Given the description of an element on the screen output the (x, y) to click on. 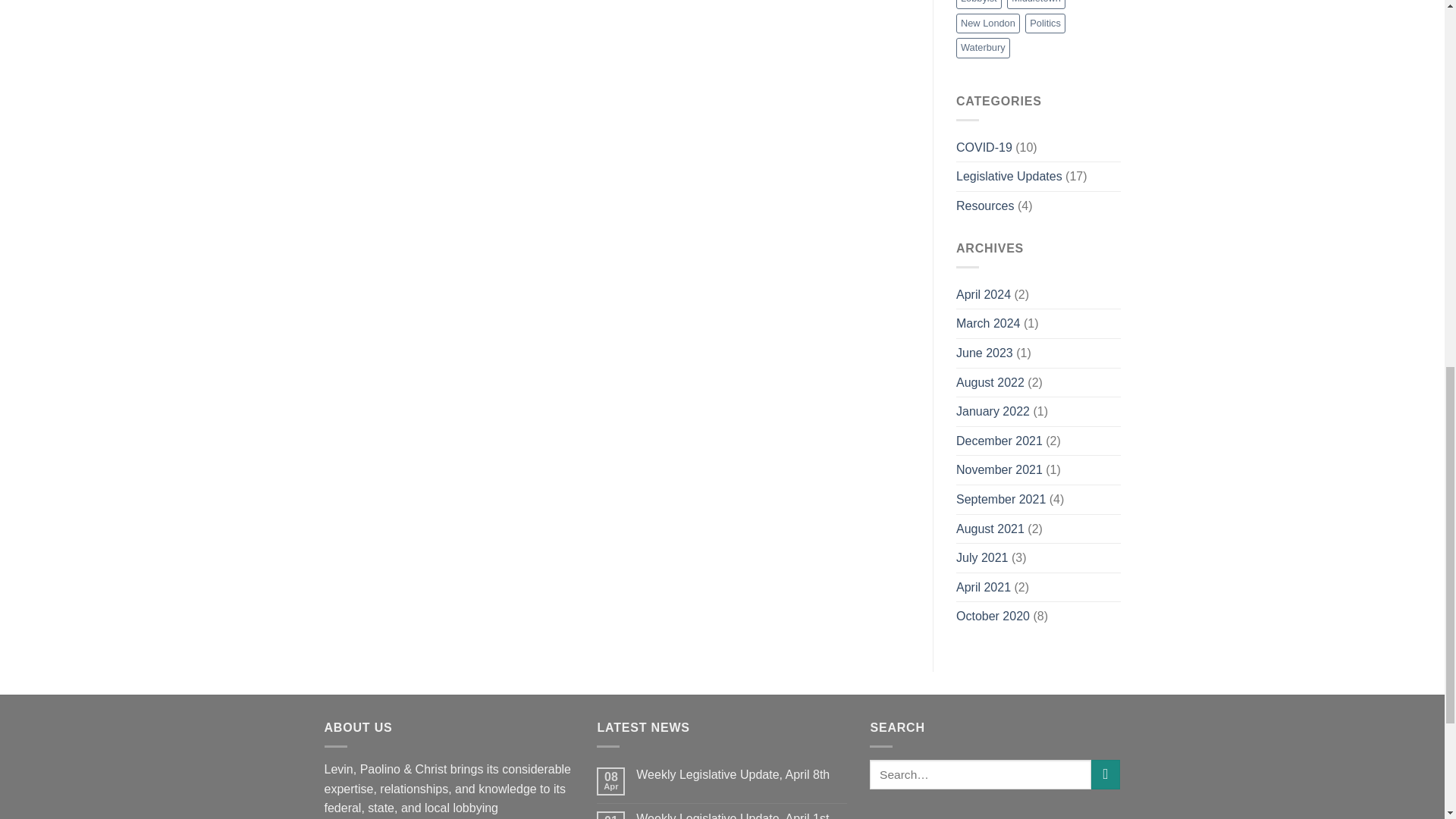
Weekly Legislative Update, April 1st (741, 815)
Weekly Legislative Update, April 8th (741, 774)
